Given the description of an element on the screen output the (x, y) to click on. 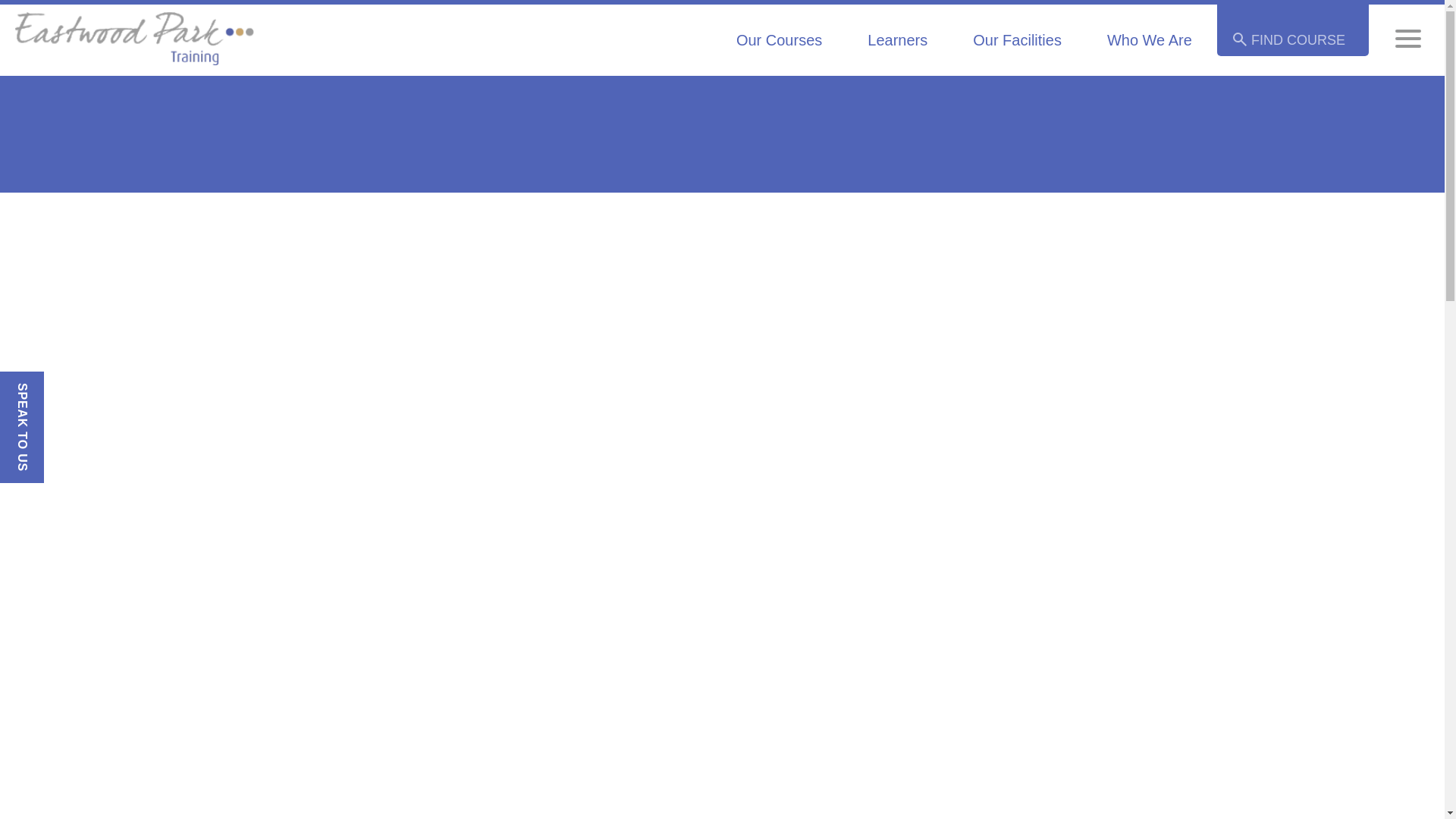
Learners (897, 46)
Our Courses (779, 46)
Our Facilities (1016, 46)
Who We Are (1149, 46)
FIND COURSE (1292, 40)
